Given the description of an element on the screen output the (x, y) to click on. 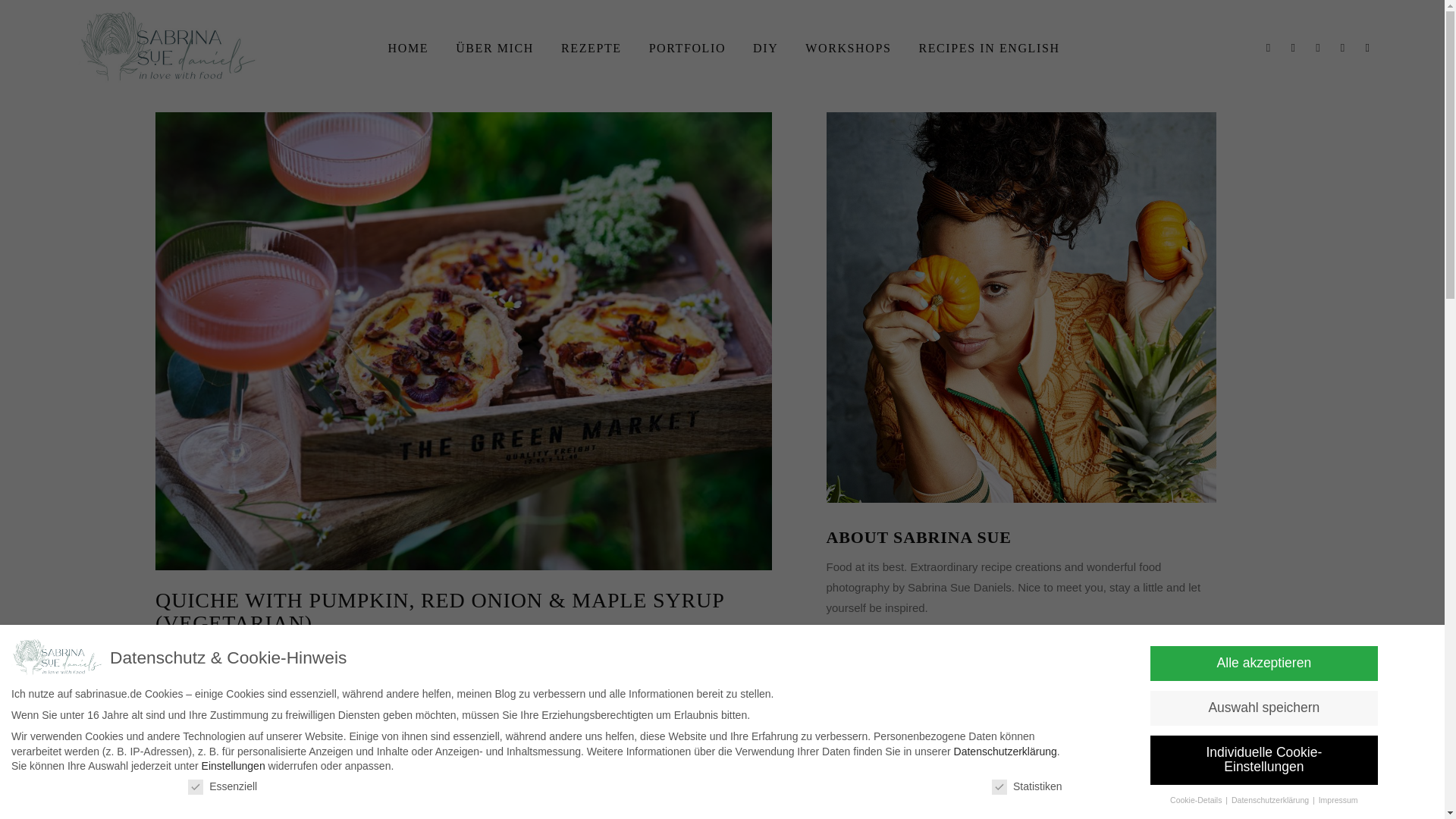
WORKSHOPS (848, 47)
RECIPES IN ENGLISH (988, 47)
PORTFOLIO (686, 47)
REZEPTE (590, 47)
